Given the description of an element on the screen output the (x, y) to click on. 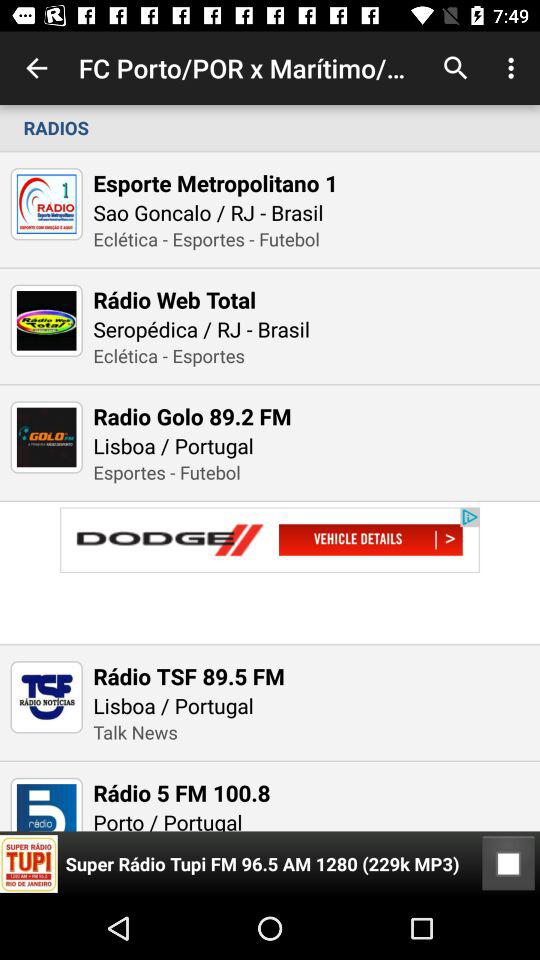
advertisement (270, 572)
